Given the description of an element on the screen output the (x, y) to click on. 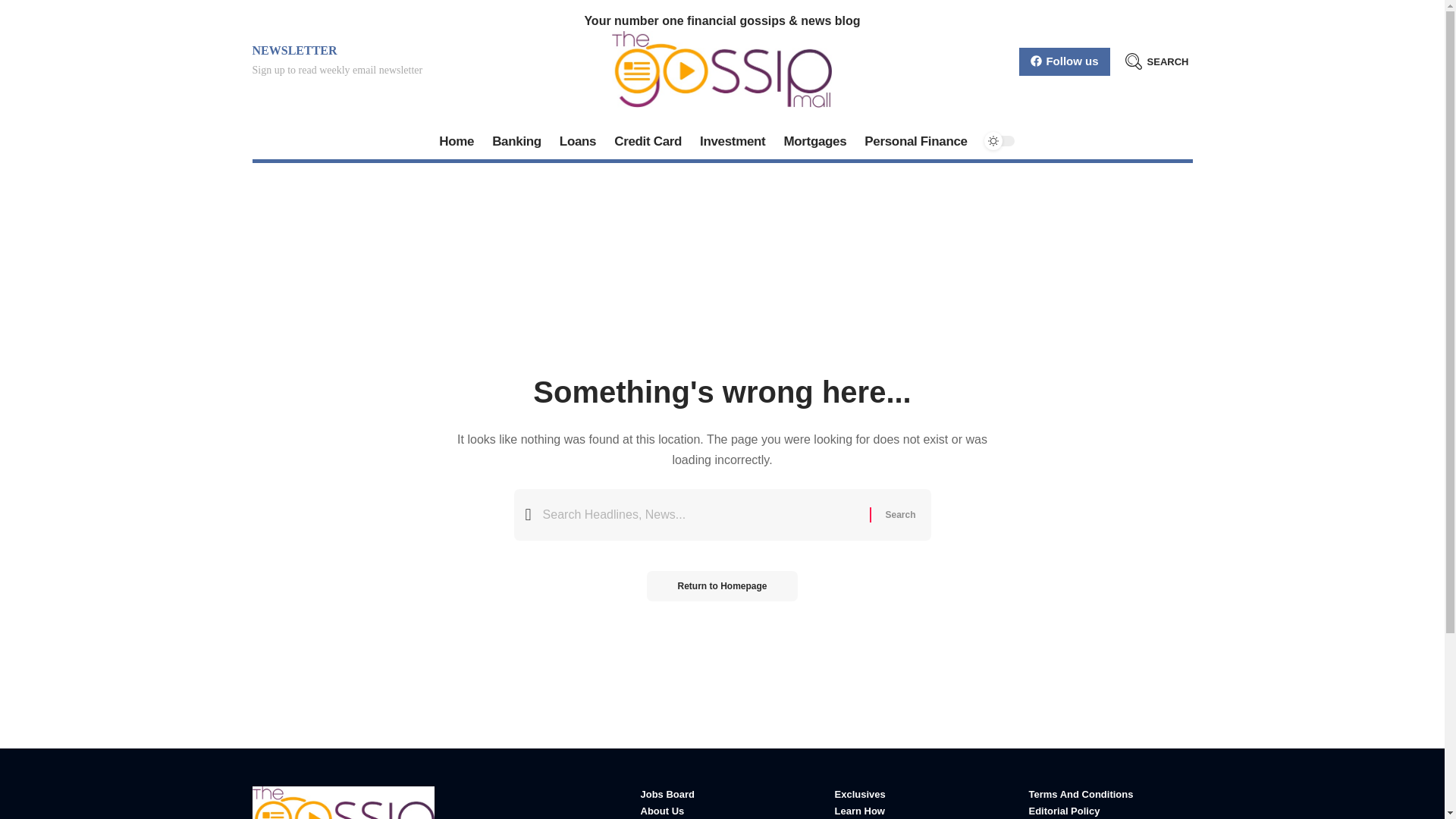
Search (899, 513)
Credit Card (647, 140)
SEARCH (1157, 61)
Home (456, 140)
Editorial Policy (1109, 811)
Return to Homepage (721, 585)
Exclusives (915, 794)
Banking (516, 140)
Investment (732, 140)
Follow us (1064, 61)
